Given the description of an element on the screen output the (x, y) to click on. 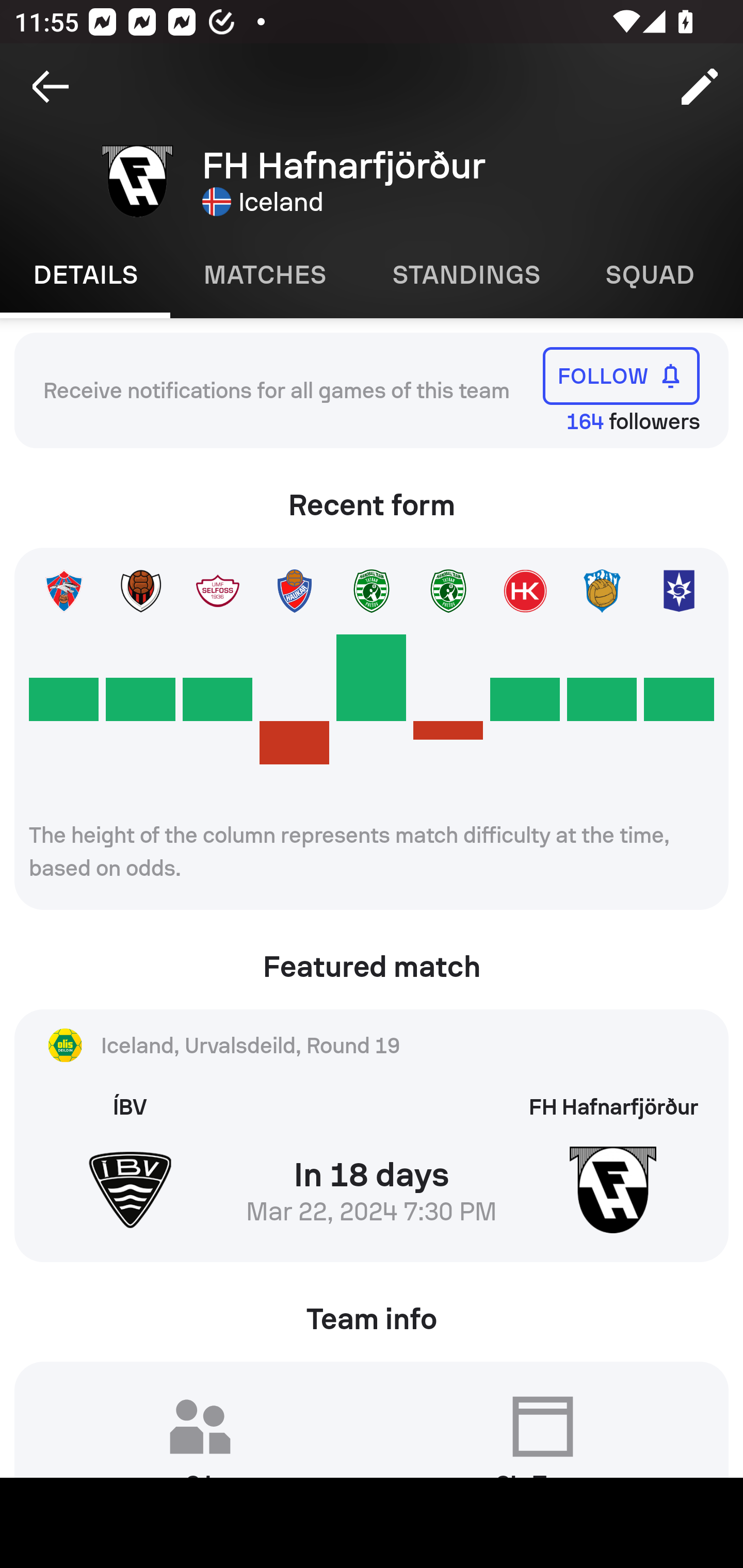
Navigate up (50, 86)
Edit (699, 86)
Matches MATCHES (264, 275)
Standings STANDINGS (465, 275)
Squad SQUAD (650, 275)
FOLLOW (621, 375)
